Given the description of an element on the screen output the (x, y) to click on. 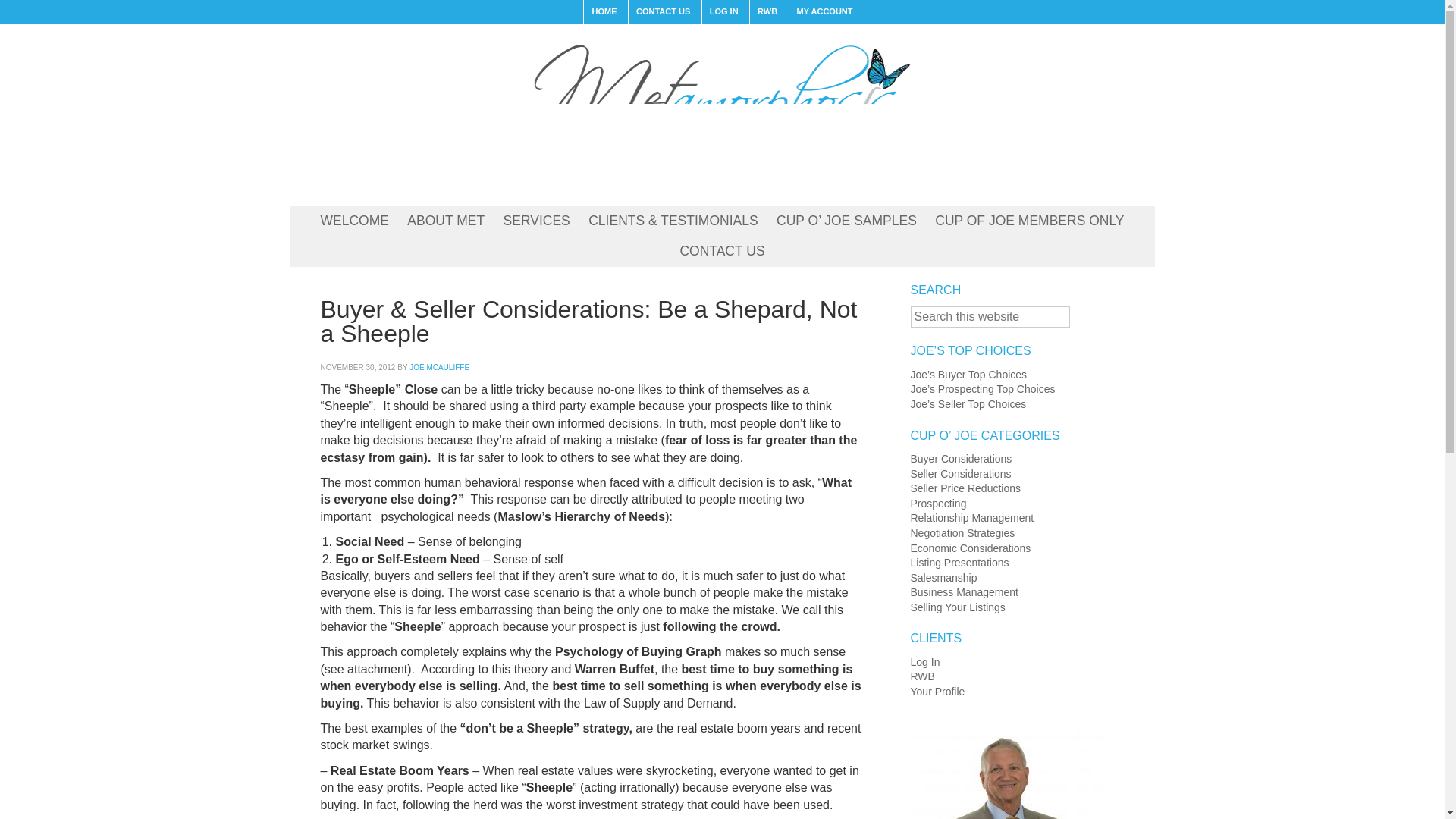
WELCOME (354, 220)
CONTACT US (662, 11)
METAMORPHOSIS CONSULTING, INC. (721, 111)
CONTACT US (721, 250)
HOME (603, 11)
SERVICES (537, 220)
MY ACCOUNT (824, 11)
LOG IN (723, 11)
ABOUT MET (445, 220)
RWB (766, 11)
JOE MCAULIFFE (438, 367)
CUP OF JOE MEMBERS ONLY (1029, 220)
